Given the description of an element on the screen output the (x, y) to click on. 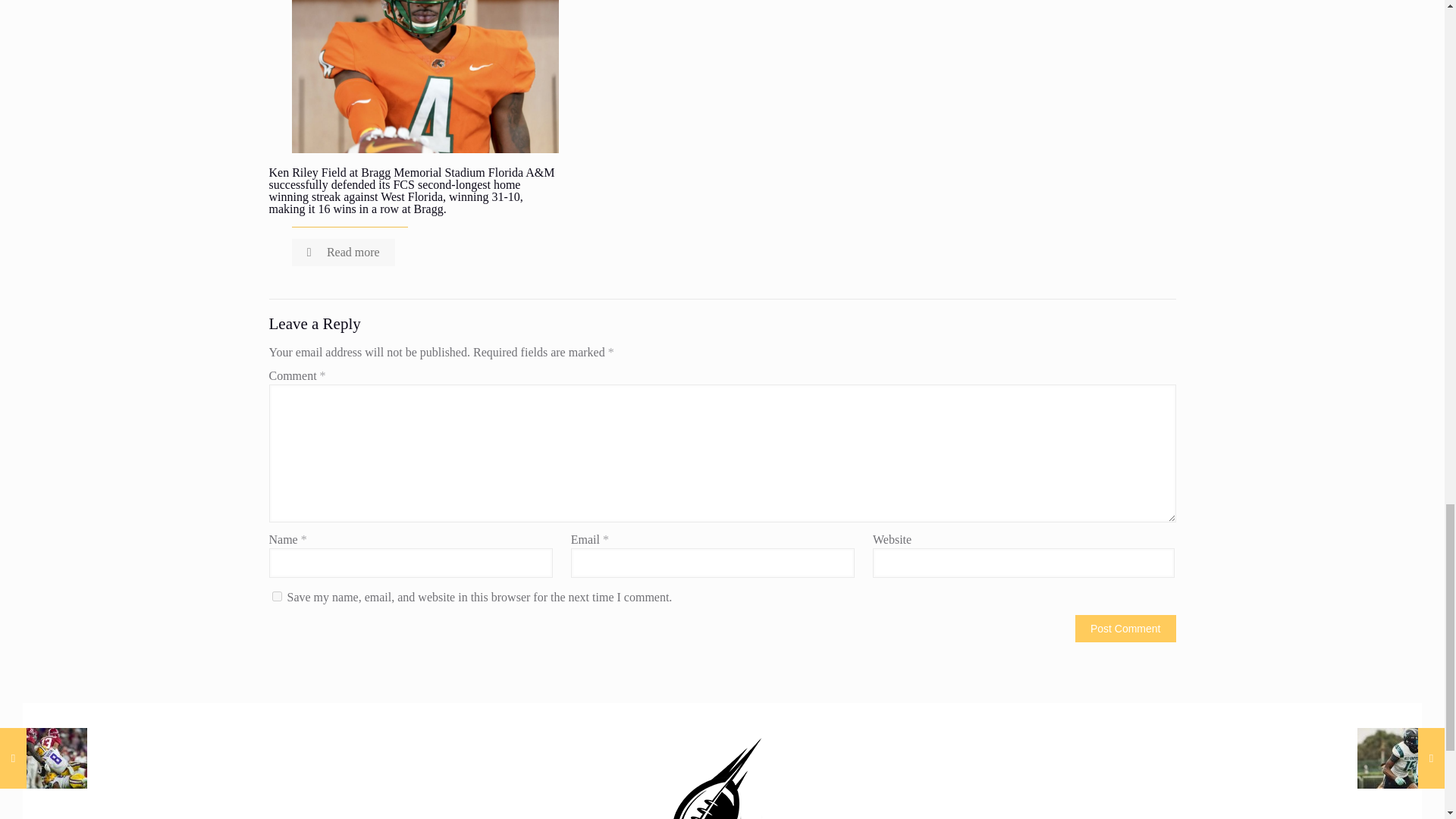
Post Comment (1125, 628)
Post Comment (1125, 628)
yes (275, 596)
Read more (342, 252)
